Given the description of an element on the screen output the (x, y) to click on. 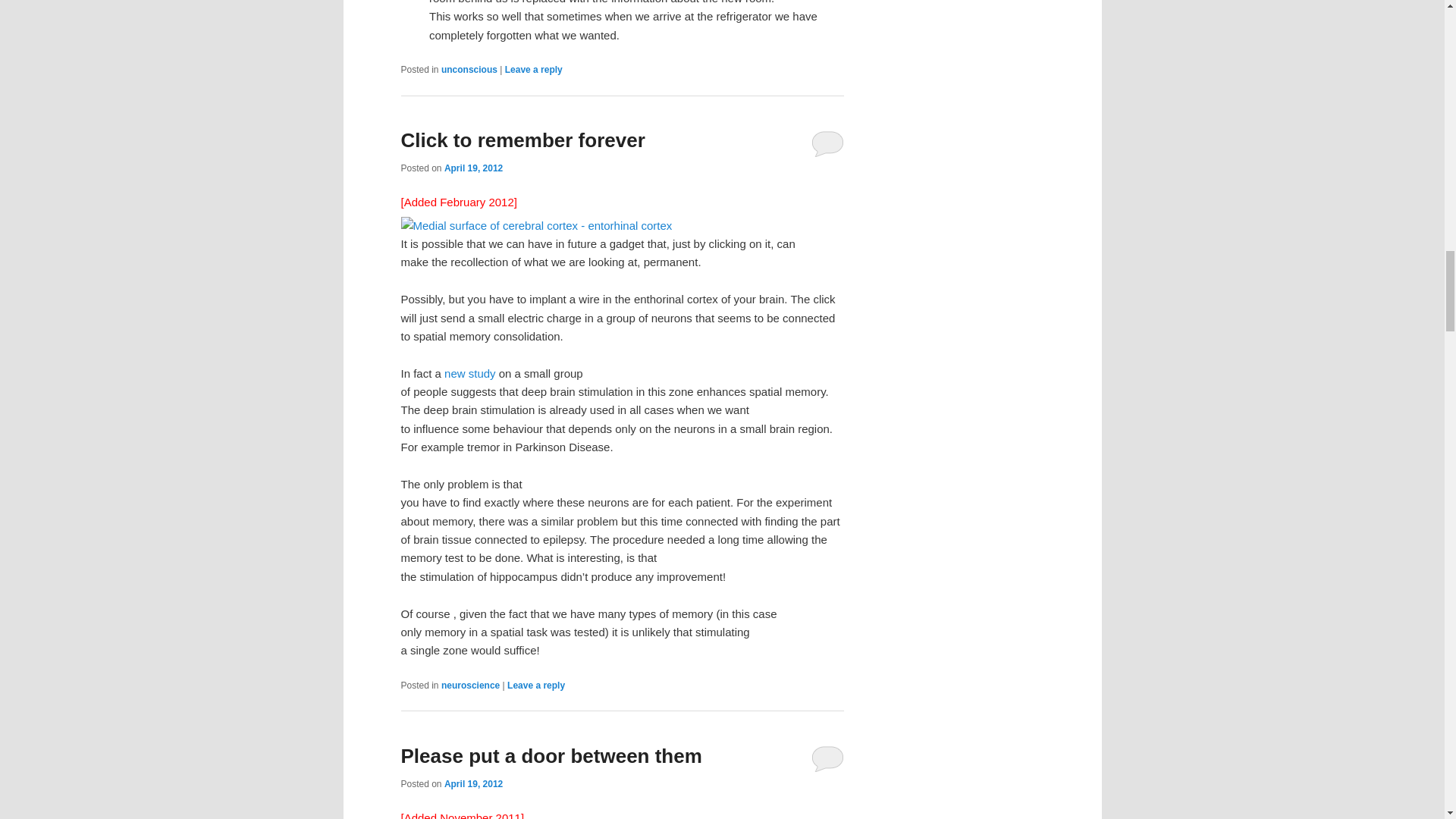
Leave a reply (535, 685)
4:43 pm (473, 783)
unconscious (469, 69)
Leave a reply (533, 69)
new study (470, 373)
neuroscience (470, 685)
April 19, 2012 (473, 783)
Click to remember forever (522, 139)
4:45 pm (473, 167)
Permalink to Click to remember forever (522, 139)
Please put a door between them (550, 755)
April 19, 2012 (473, 167)
Permalink to Please put a door between them (550, 755)
